Given the description of an element on the screen output the (x, y) to click on. 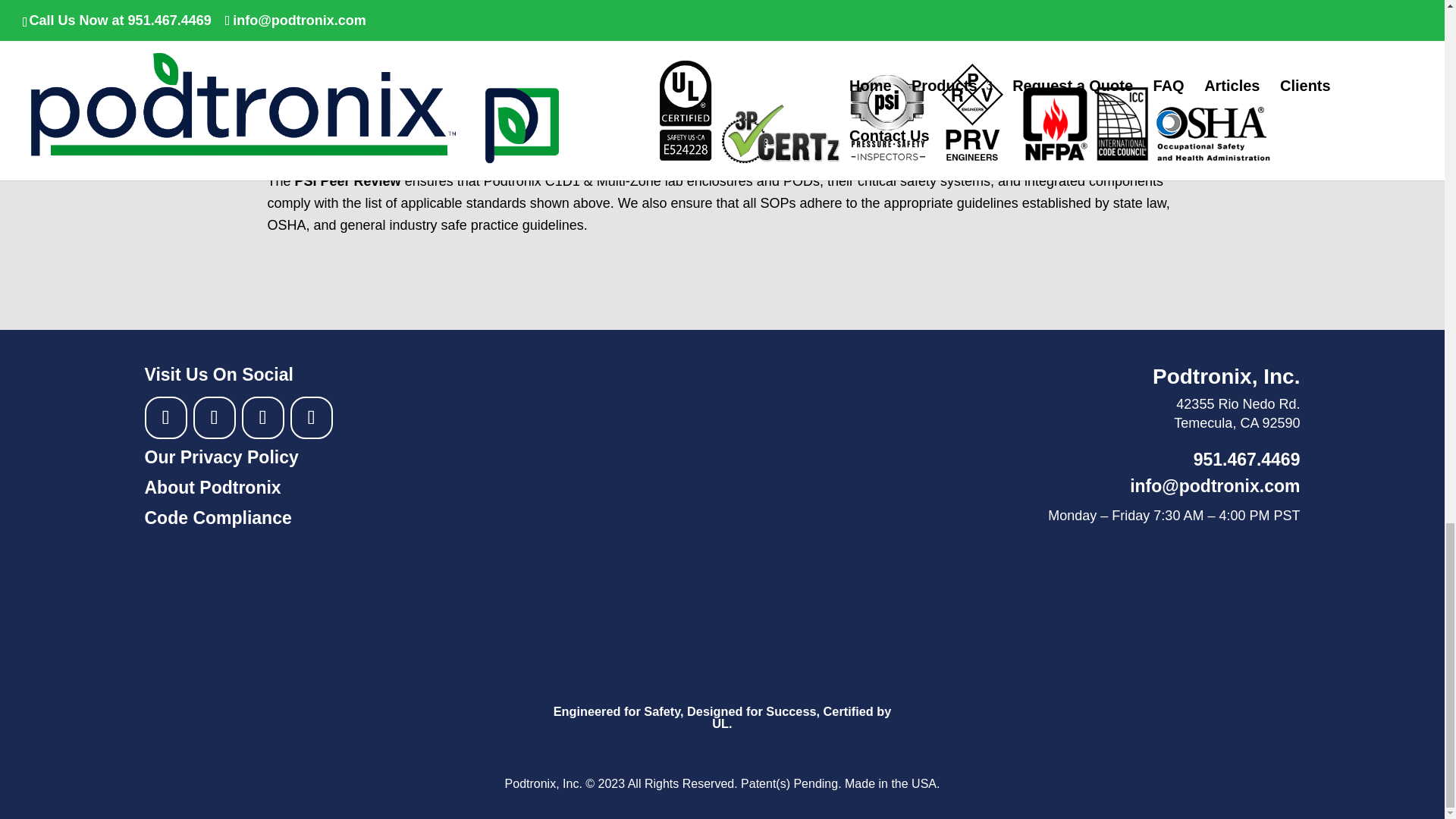
Follow on Facebook (310, 417)
Follow on X (262, 417)
Follow on Instagram (165, 417)
Follow on Youtube (213, 417)
951.467.4469 (1246, 459)
